Given the description of an element on the screen output the (x, y) to click on. 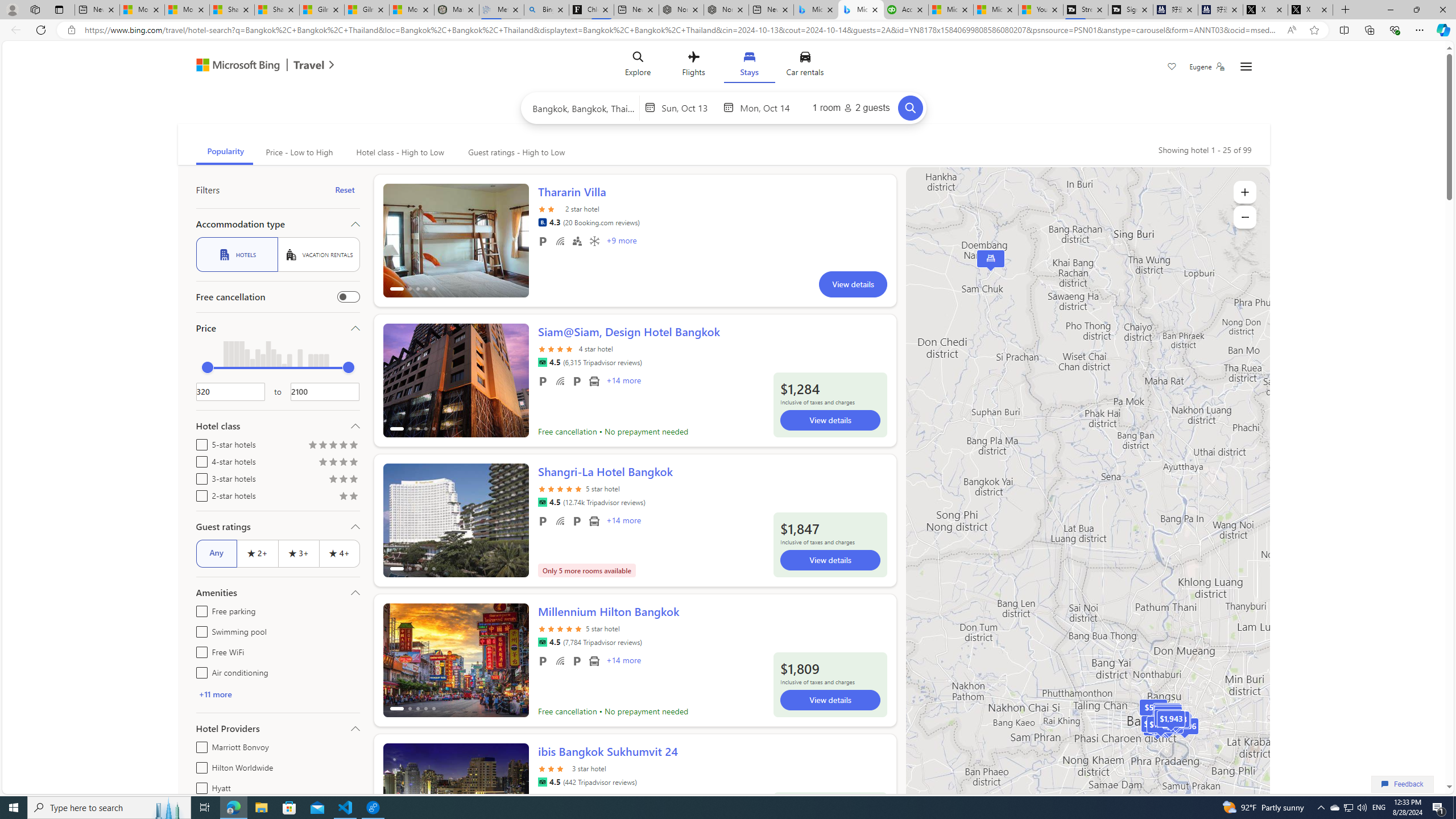
VACATION RENTALS (318, 254)
Save (1171, 67)
New tab (770, 9)
Guest ratings - High to Low (515, 152)
Add this page to favorites (Ctrl+D) (1314, 29)
4-star hotels (199, 459)
5-star hotels (199, 442)
Airport transportation (593, 660)
Valet parking (577, 660)
Reset (344, 189)
Family friendly (577, 240)
Read aloud this page (Ctrl+Shift+U) (1291, 29)
Save (1171, 67)
4+ (338, 553)
